Given the description of an element on the screen output the (x, y) to click on. 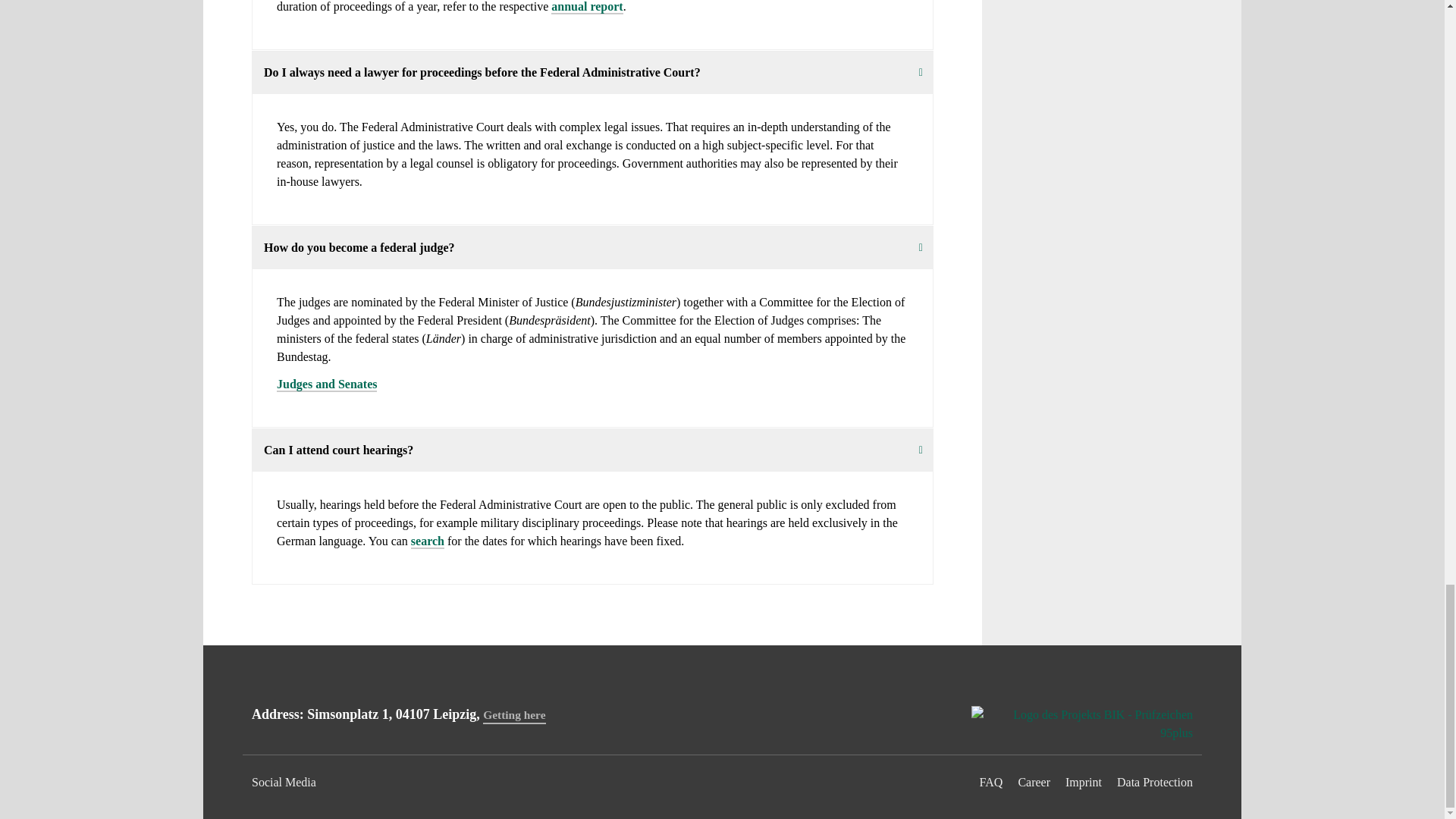
Bei 95plus eingetragene Agentur - zum Listeneintrag (1081, 723)
